Given the description of an element on the screen output the (x, y) to click on. 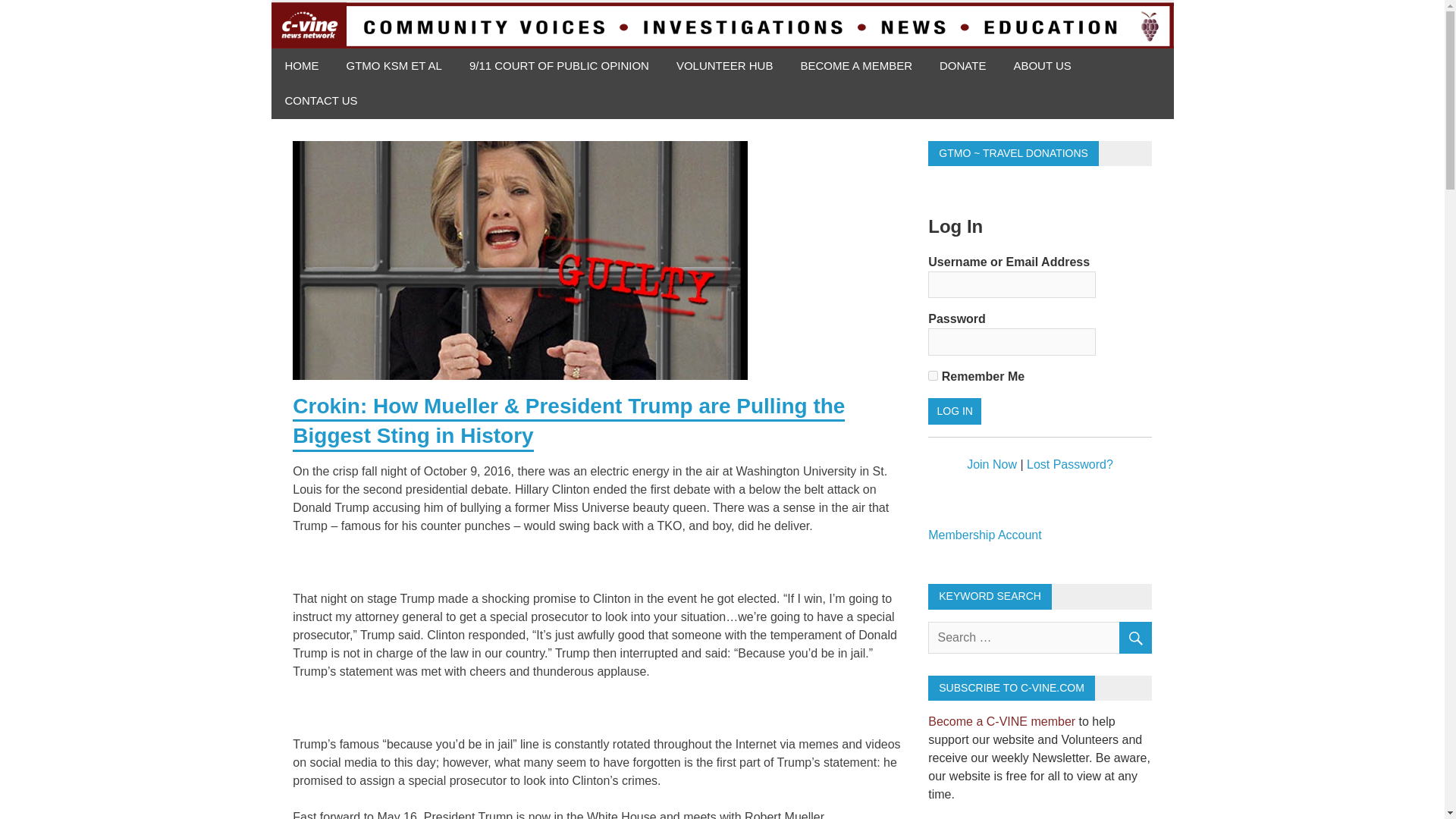
Log In (954, 411)
HOME (301, 66)
BECOME A MEMBER (856, 66)
Log In (954, 411)
C-VINE Network (380, 69)
GTMO KSM ET AL (392, 66)
Join Now (991, 463)
DONATE (962, 66)
CONTACT US (320, 100)
VOLUNTEER HUB (724, 66)
